Given the description of an element on the screen output the (x, y) to click on. 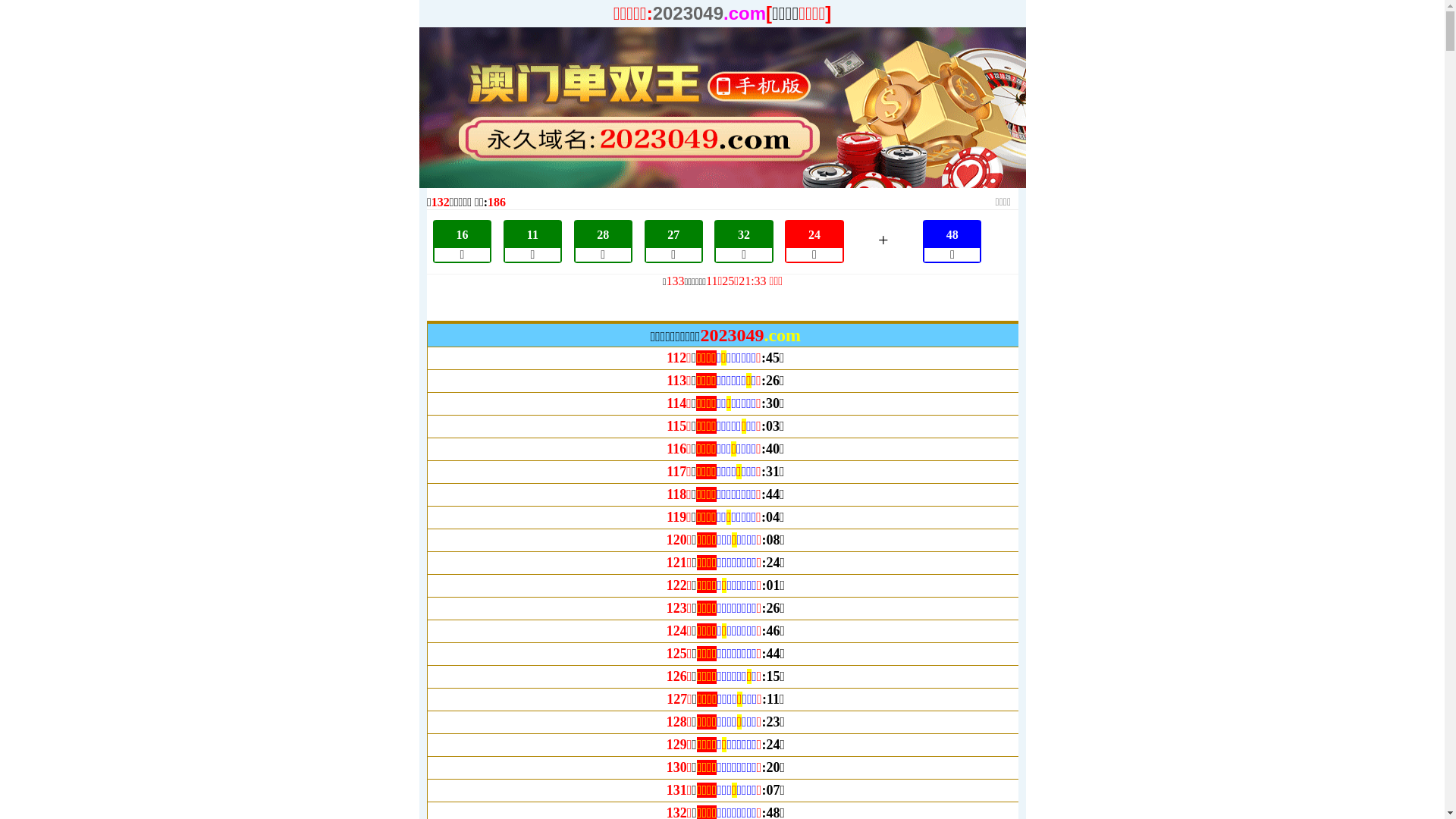
.com[ Element type: text (747, 13)
